Given the description of an element on the screen output the (x, y) to click on. 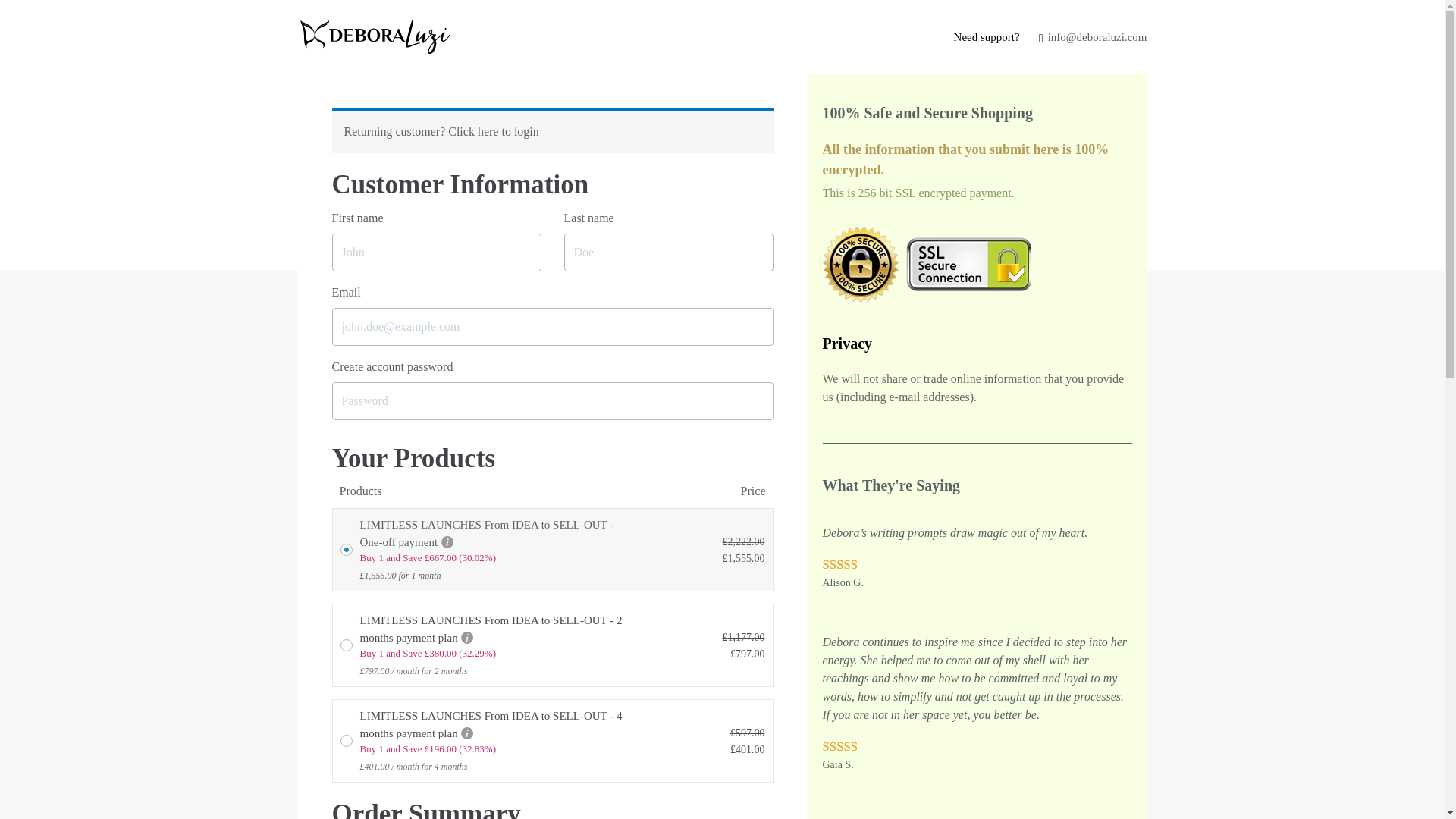
Click here to login (493, 131)
on (345, 549)
on (345, 740)
on (345, 645)
